Given the description of an element on the screen output the (x, y) to click on. 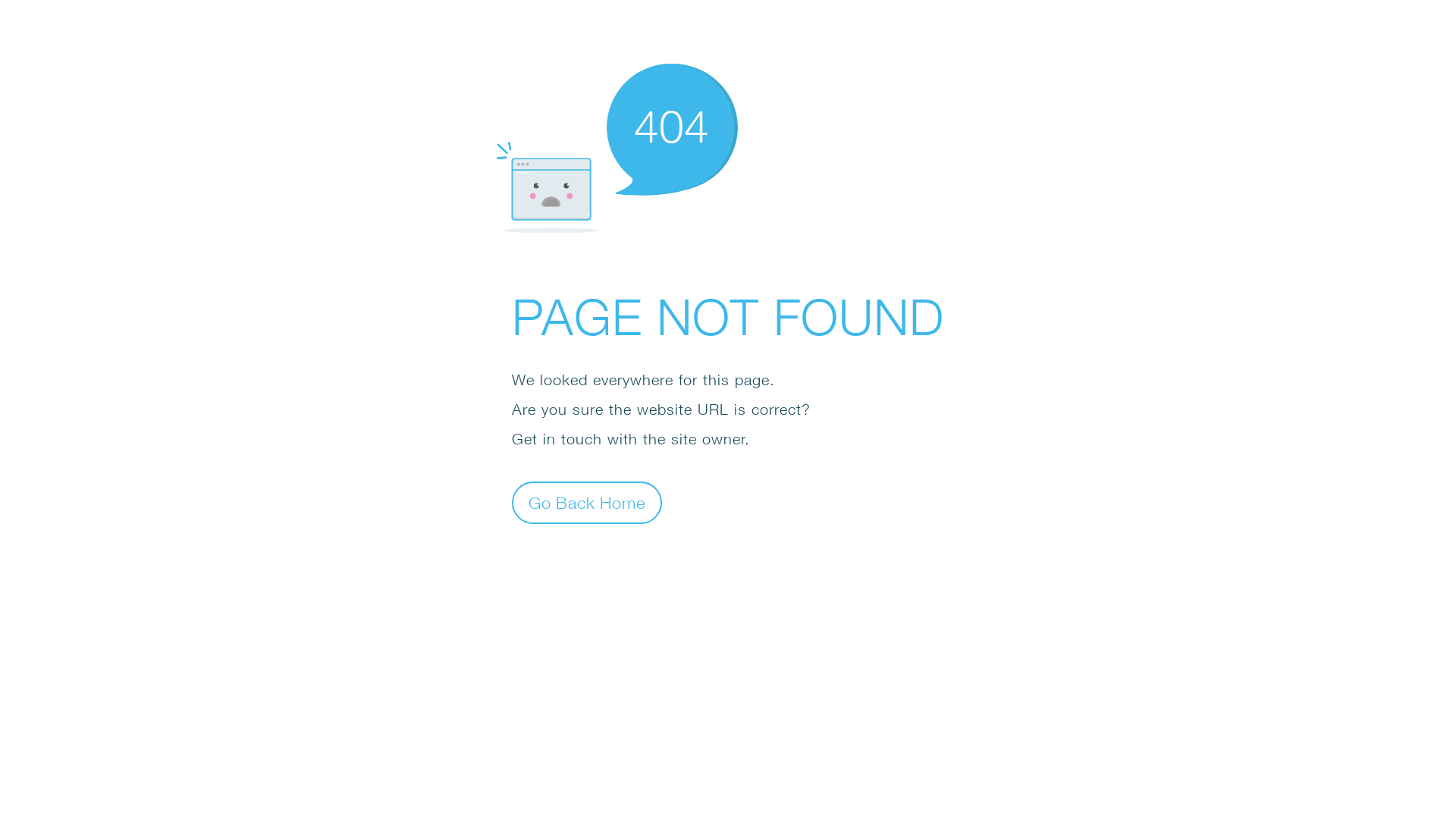
Go Back Home Element type: text (586, 502)
